Given the description of an element on the screen output the (x, y) to click on. 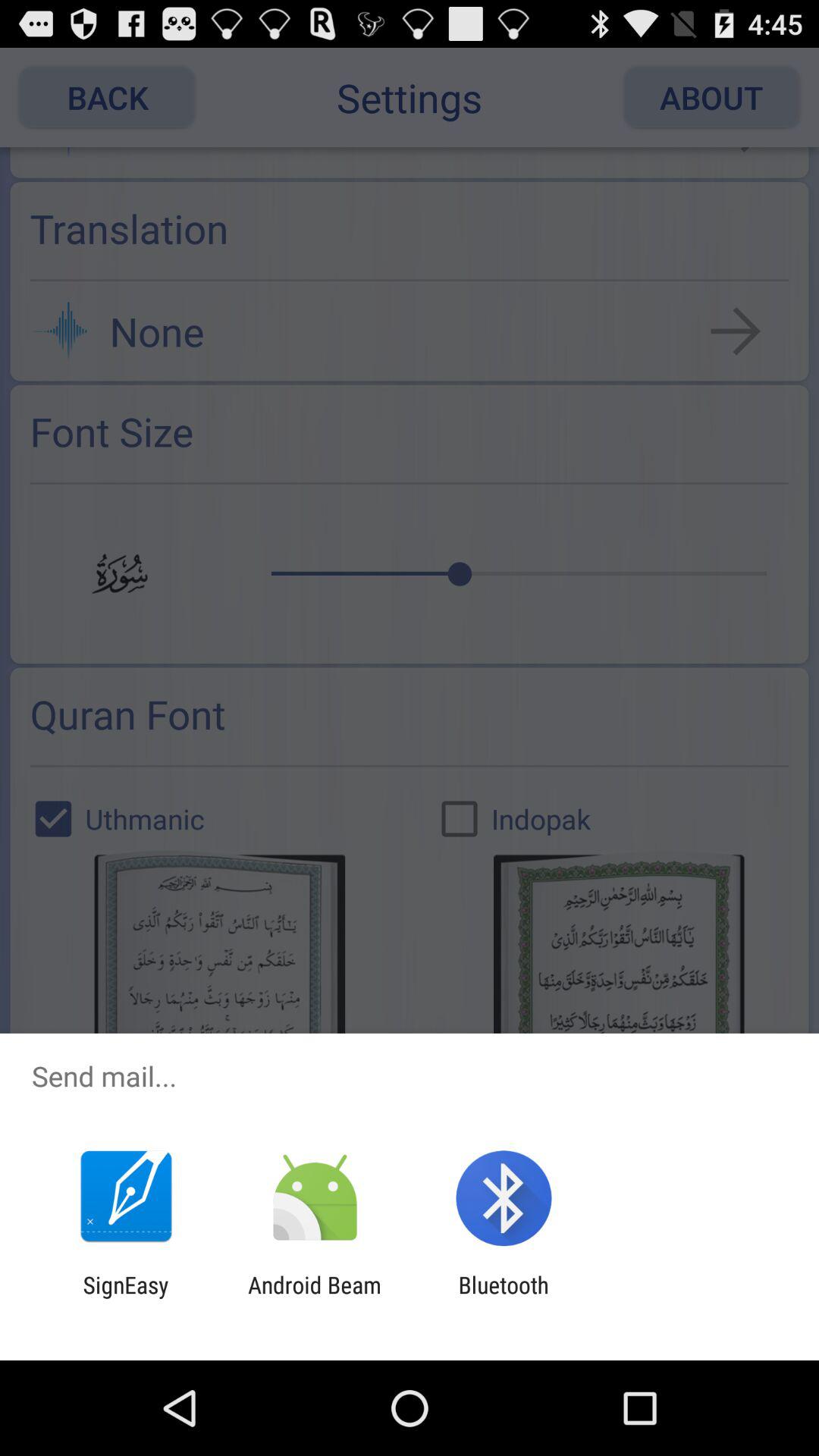
choose the icon to the right of the android beam item (503, 1298)
